Given the description of an element on the screen output the (x, y) to click on. 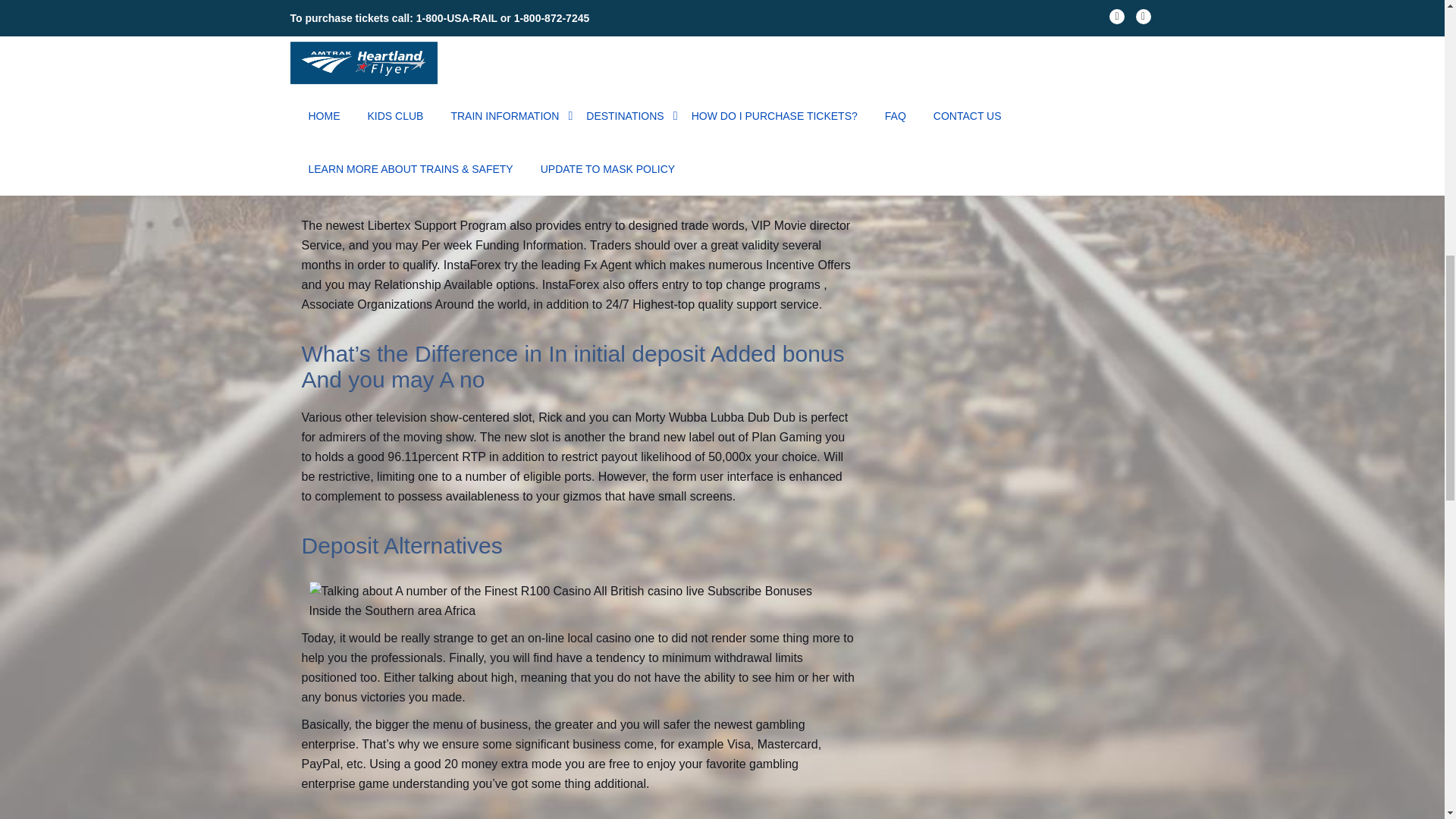
All British casino live (462, 59)
